Given the description of an element on the screen output the (x, y) to click on. 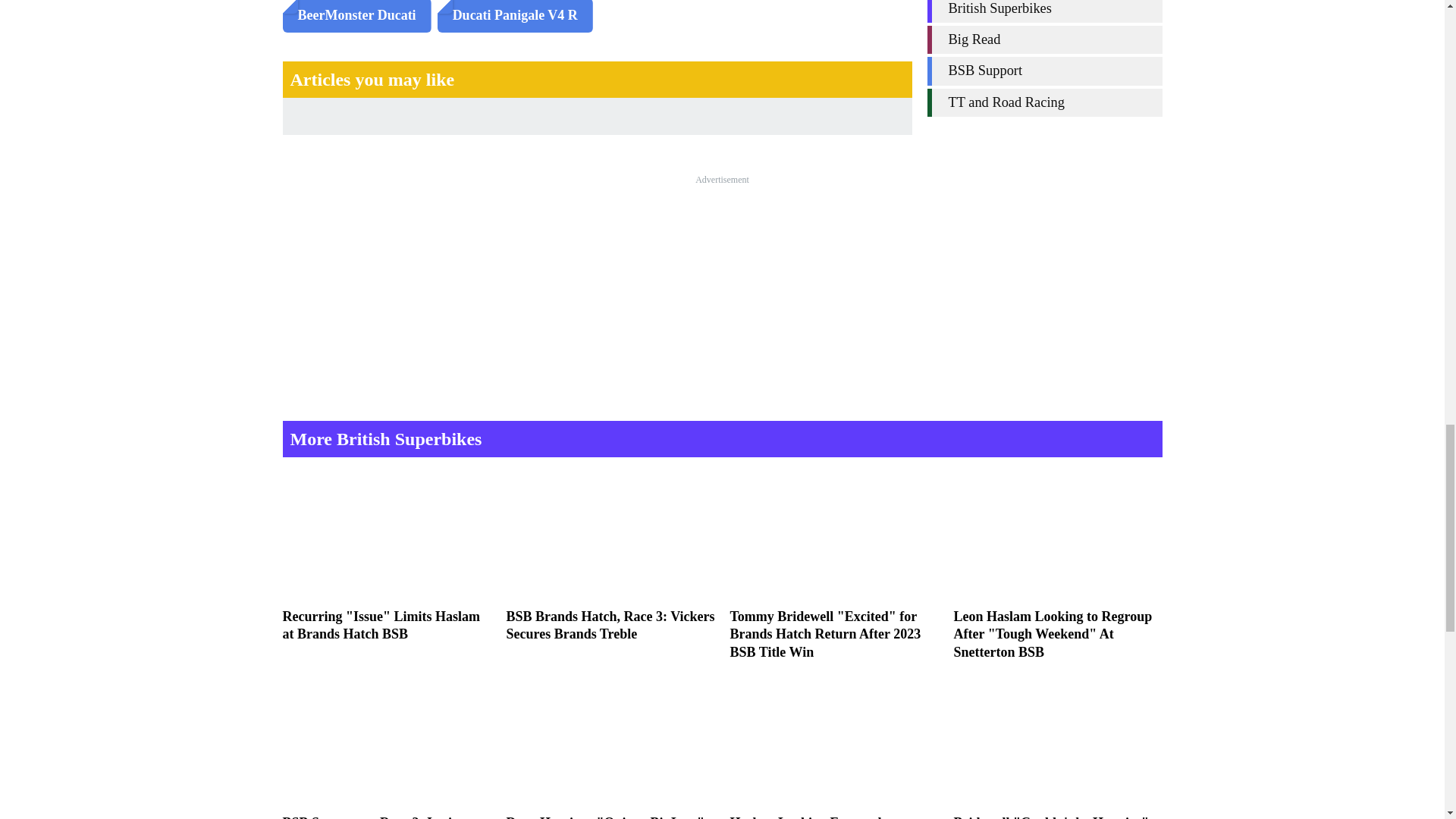
Ducati Panigale V4 R (515, 16)
Recurring "Issue" Limits Haslam at Brands Hatch BSB (386, 556)
BSB Brands Hatch, Race 3: Vickers Secures Brands Treble (610, 556)
BeerMonster Ducati (356, 16)
